Given the description of an element on the screen output the (x, y) to click on. 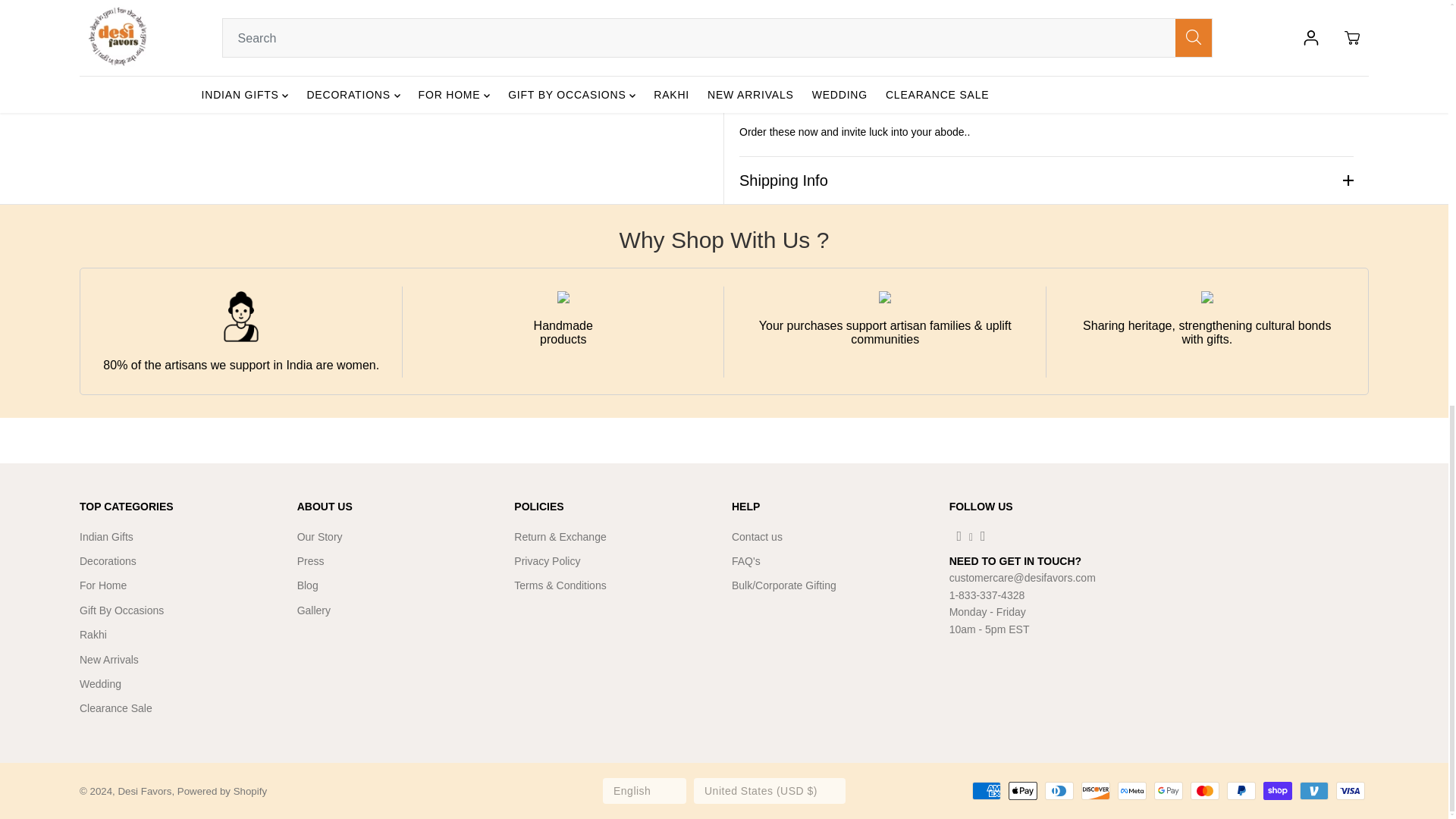
American Express (986, 791)
Apple Pay (1022, 791)
Mastercard (1205, 791)
Shop Pay (1277, 791)
Diners Club (1059, 791)
Google Pay (1168, 791)
Discover (1095, 791)
PayPal (1241, 791)
Meta Pay (1132, 791)
